Given the description of an element on the screen output the (x, y) to click on. 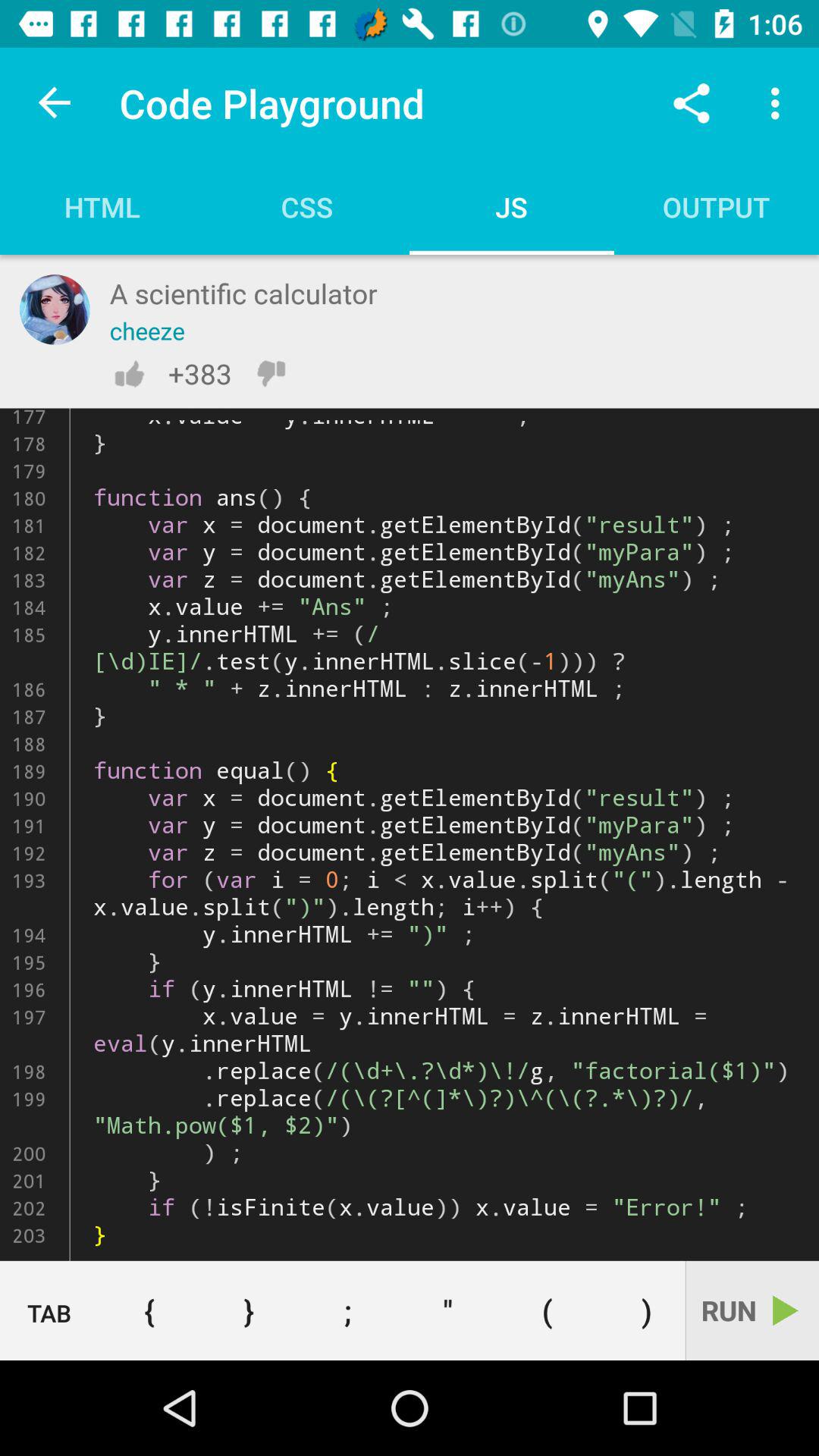
choose the icon below the function shiftfn ken icon (149, 1310)
